Given the description of an element on the screen output the (x, y) to click on. 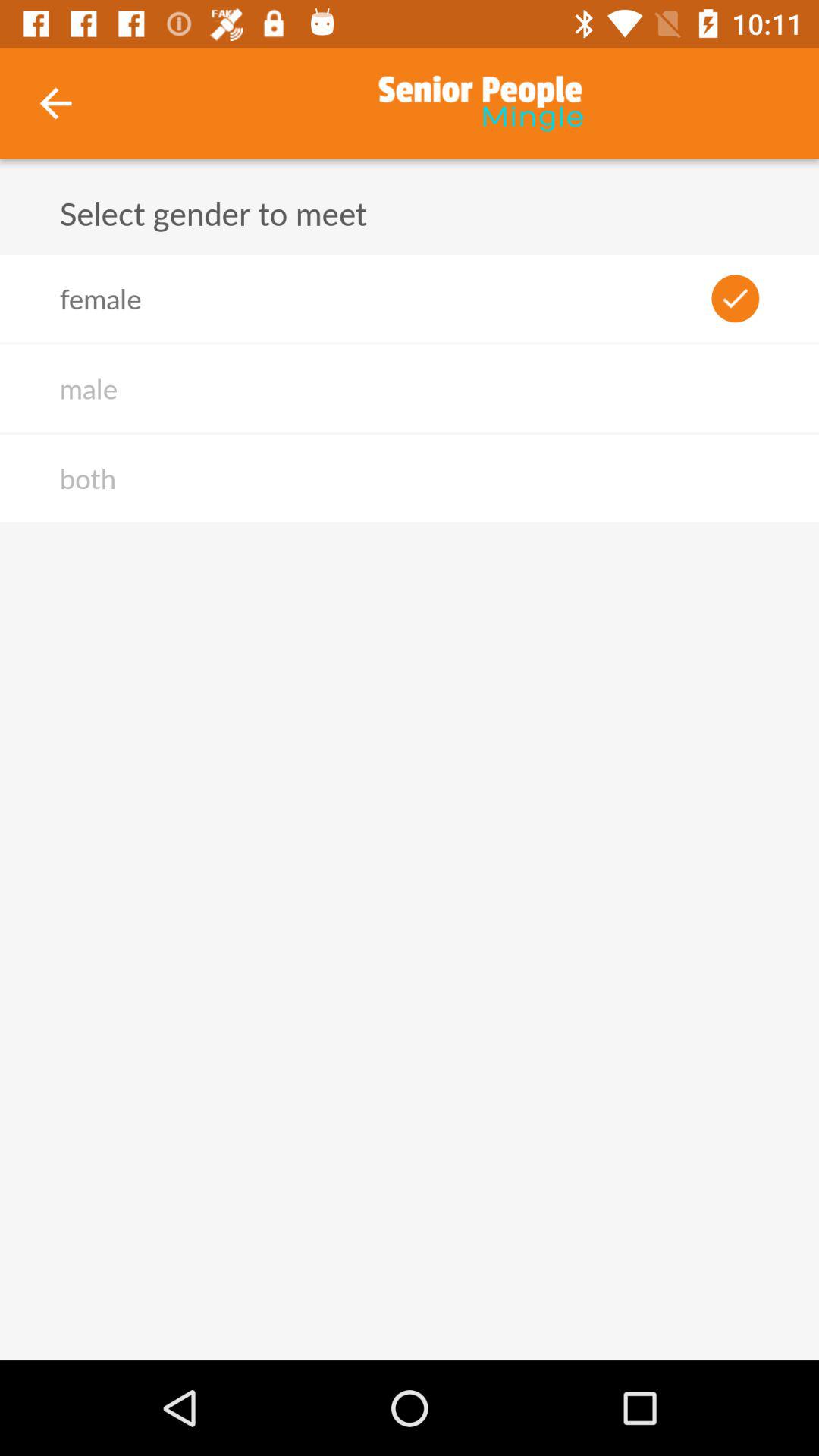
flip to female item (100, 298)
